Given the description of an element on the screen output the (x, y) to click on. 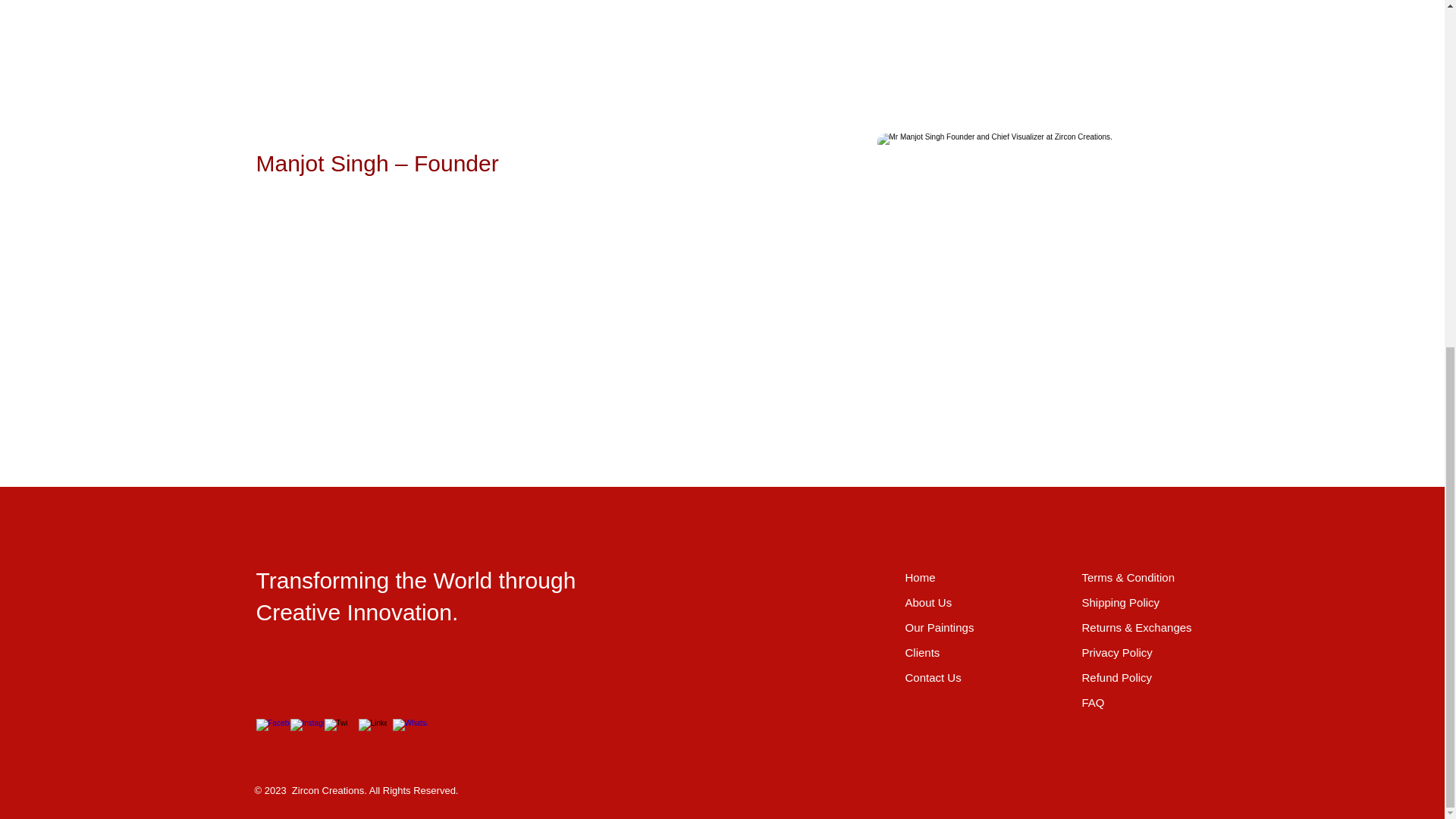
Refund Policy (1116, 676)
Privacy Policy (1116, 652)
Contact Us (932, 676)
Home (920, 576)
Our Paintings (939, 626)
Shipping Policy (1119, 602)
Clients (922, 652)
About Us (928, 602)
FAQ (1092, 702)
